Given the description of an element on the screen output the (x, y) to click on. 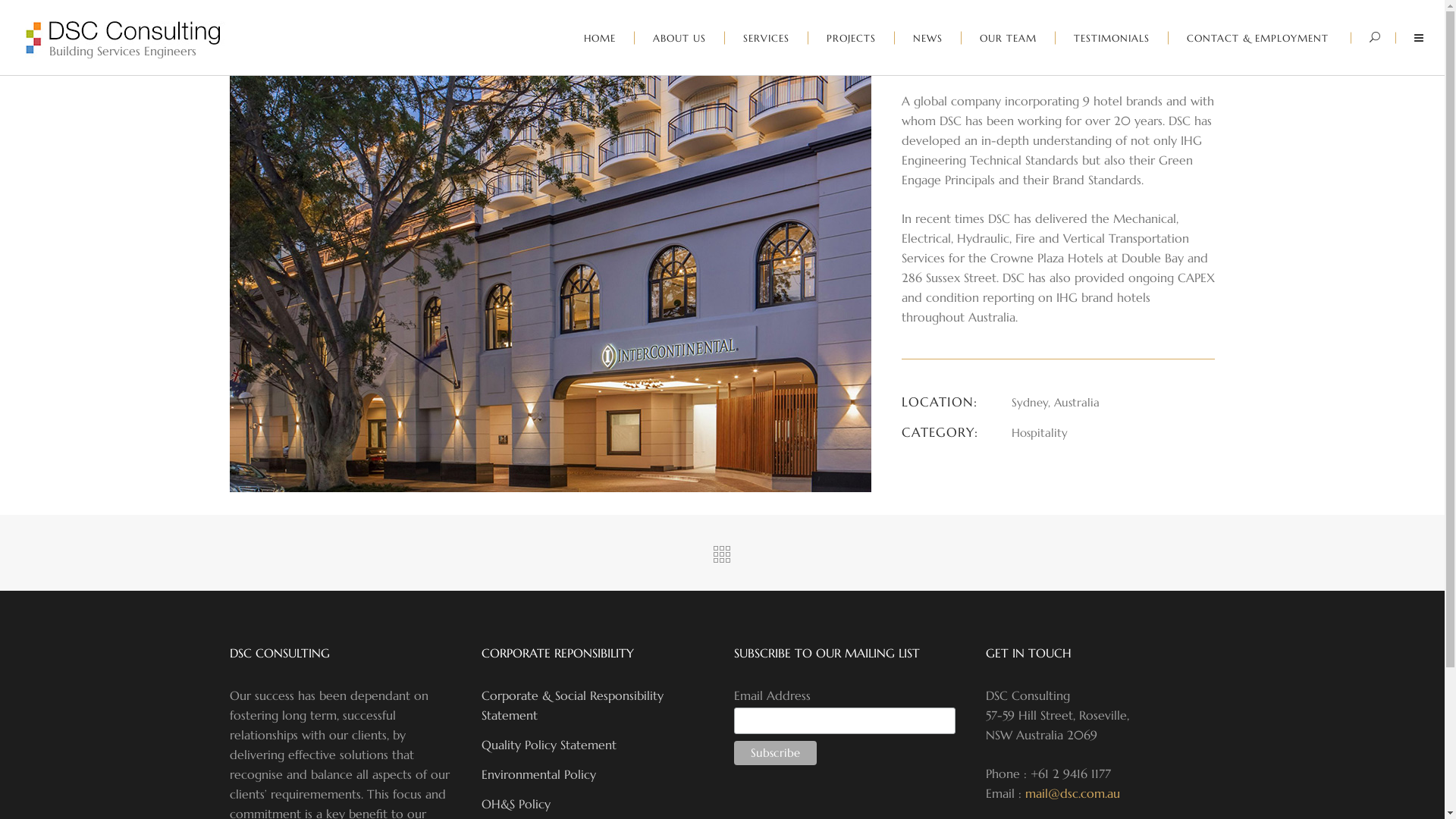
Environmental Policy Element type: text (538, 773)
mail@dsc.com.au Element type: text (1072, 792)
Quality Policy Statement Element type: text (548, 744)
CONTACT & EMPLOYMENT Element type: text (1257, 37)
Corporate & Social Responsibility Statement Element type: text (572, 704)
HOME Element type: text (599, 37)
PROJECTS Element type: text (851, 37)
OUR TEAM Element type: text (1008, 37)
NEWS Element type: text (927, 37)
ABOUT US Element type: text (679, 37)
TESTIMONIALS Element type: text (1111, 37)
SERVICES Element type: text (766, 37)
OH&S Policy Element type: text (515, 803)
Subscribe Element type: text (775, 752)
